Given the description of an element on the screen output the (x, y) to click on. 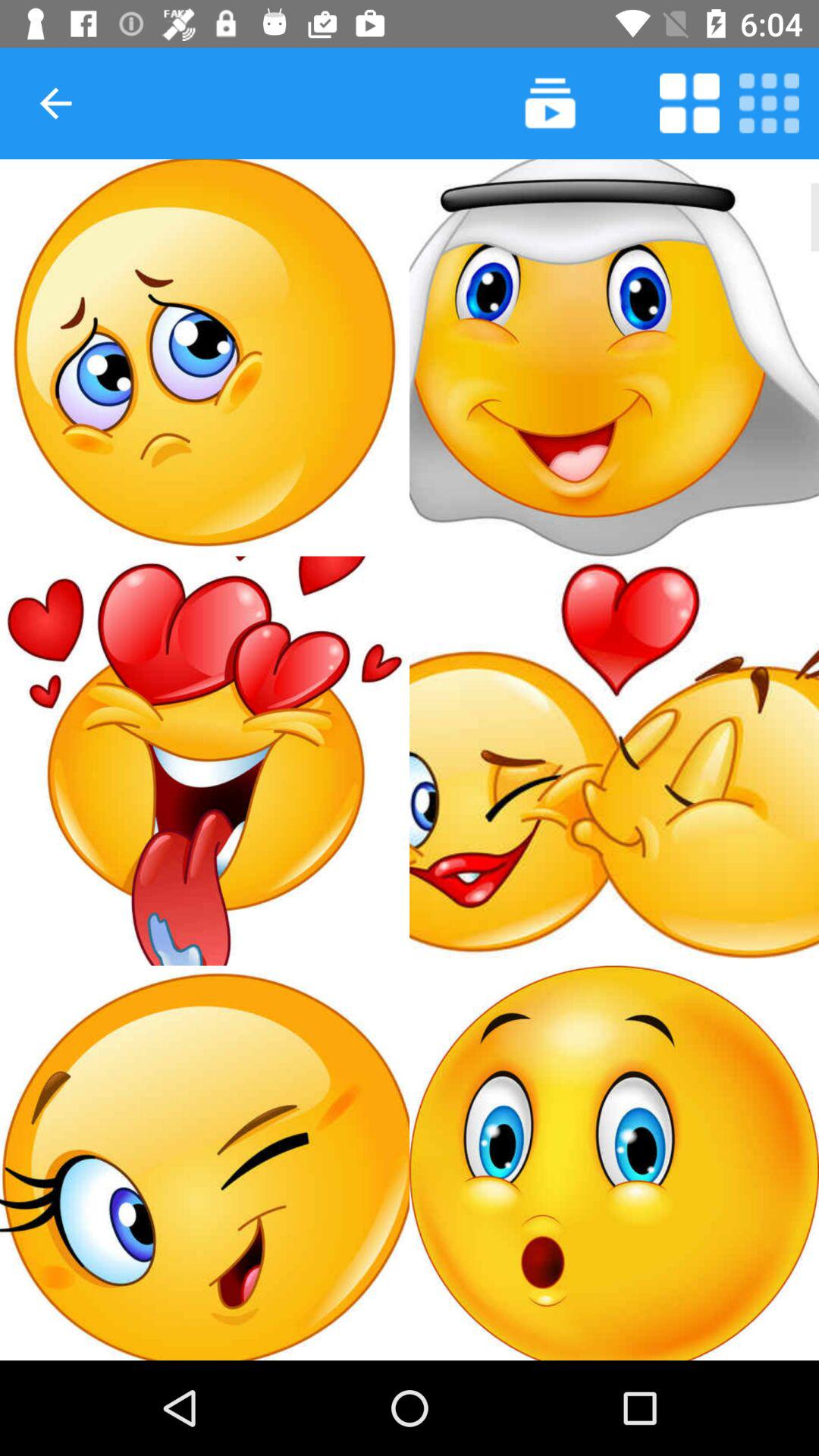
choose this icon (204, 760)
